Given the description of an element on the screen output the (x, y) to click on. 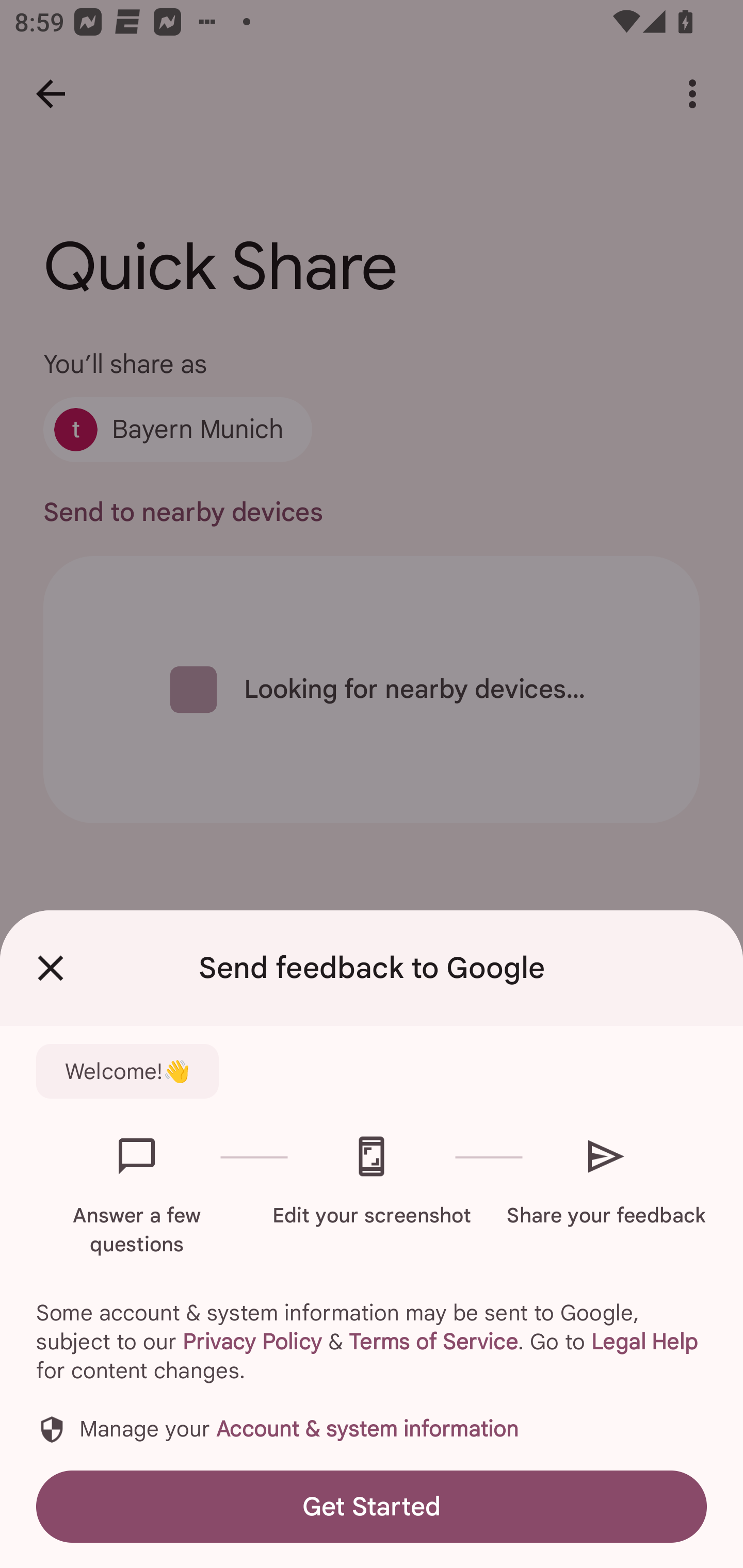
Close Feedback (50, 968)
Get Started (371, 1505)
